Given the description of an element on the screen output the (x, y) to click on. 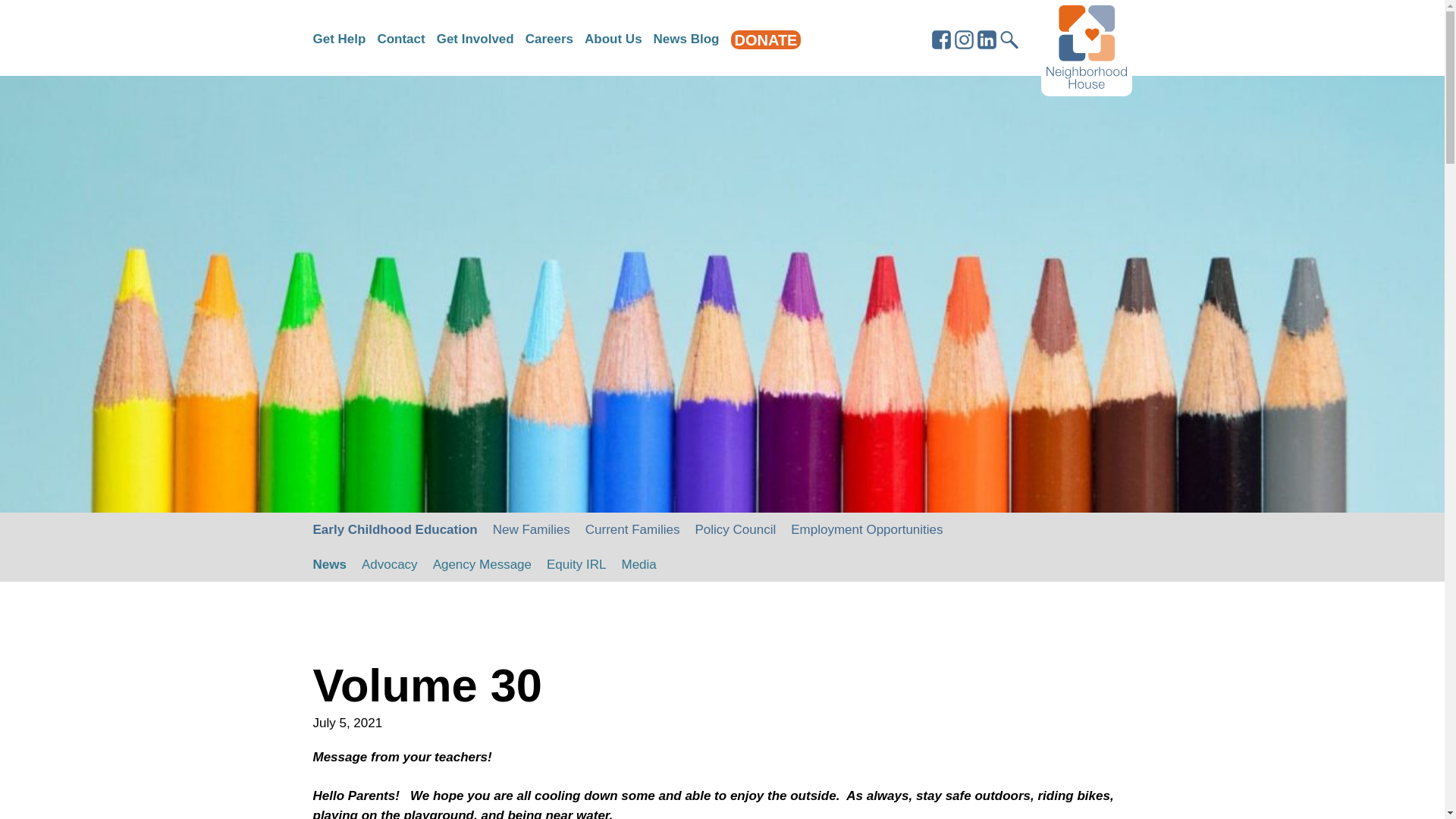
News Blog (686, 38)
Get Help (339, 38)
Contact (401, 38)
Search (1094, 3)
DONATE (764, 39)
Careers (549, 38)
Get Involved (474, 38)
About Us (613, 38)
